Given the description of an element on the screen output the (x, y) to click on. 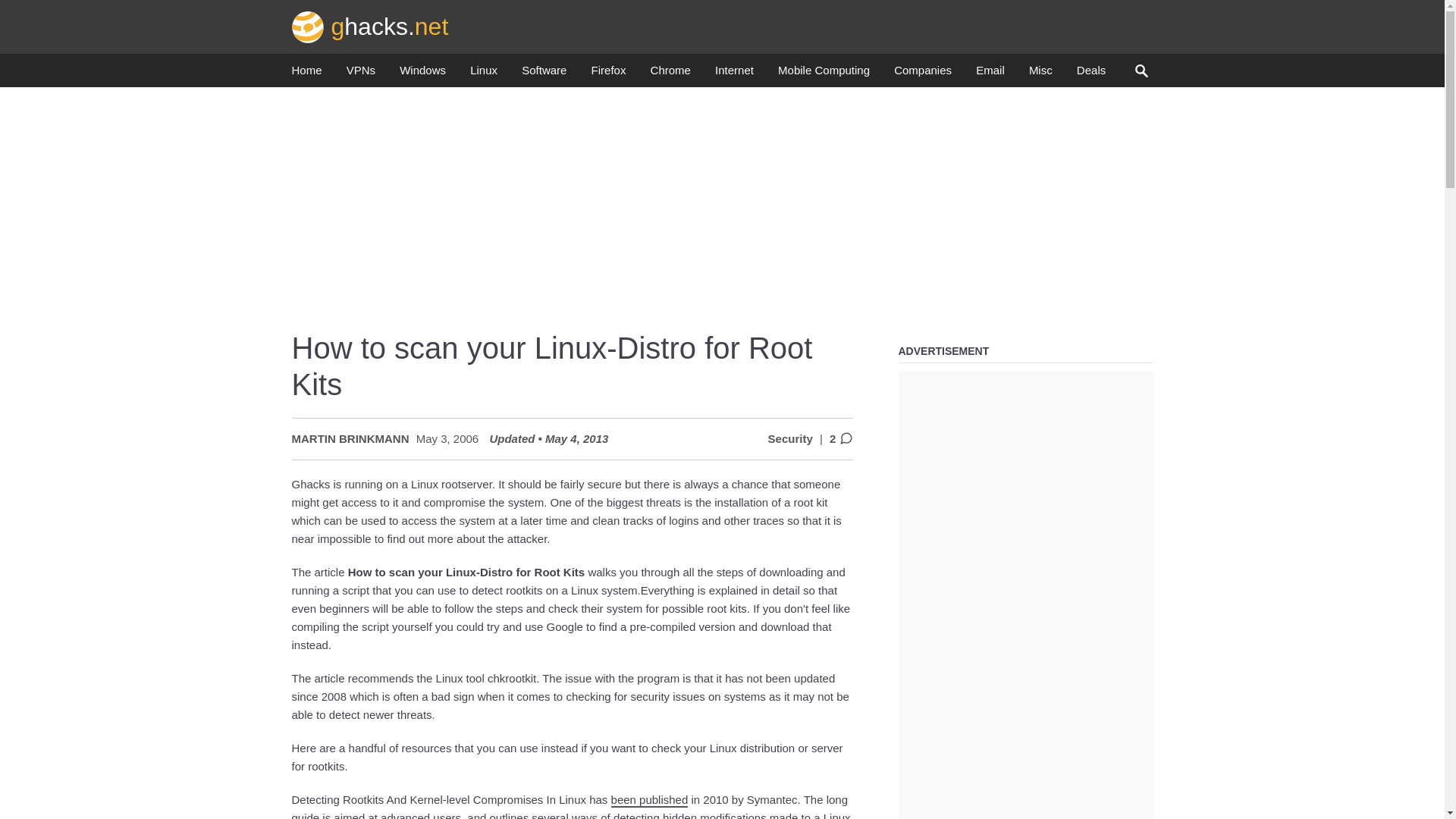
VPNs (360, 73)
Windows (421, 73)
Chrome (670, 73)
Misc (1040, 73)
Email (989, 73)
Firefox (608, 73)
Home (306, 73)
Mobile Computing (823, 73)
Internet (734, 73)
Deals (1091, 73)
ghacks.net (369, 26)
Linux (483, 73)
Companies (922, 73)
Software (543, 73)
